Given the description of an element on the screen output the (x, y) to click on. 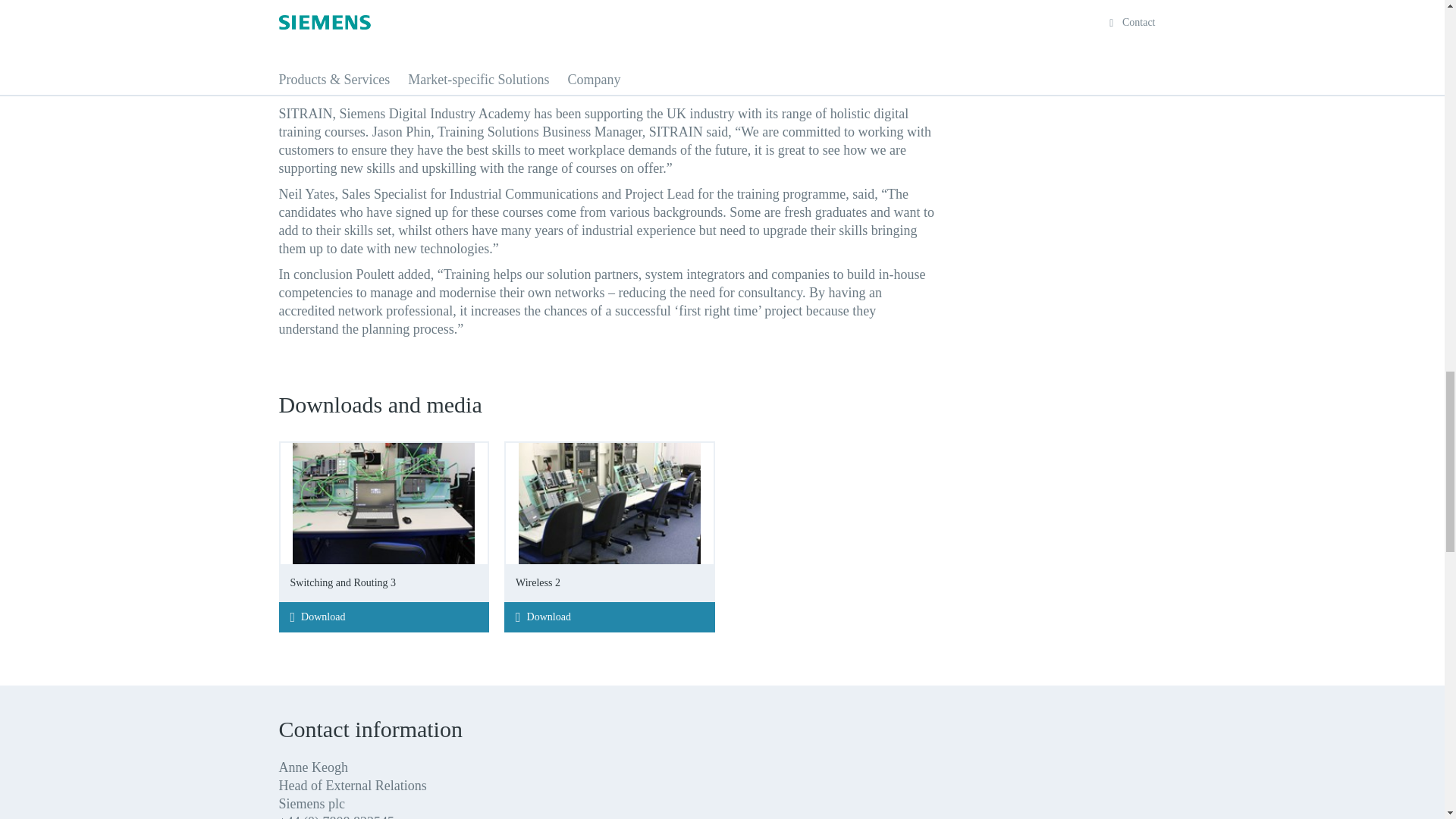
Download (609, 616)
Download (383, 616)
Wireless 2 (608, 521)
Switching and Routing 3 (384, 521)
